Given the description of an element on the screen output the (x, y) to click on. 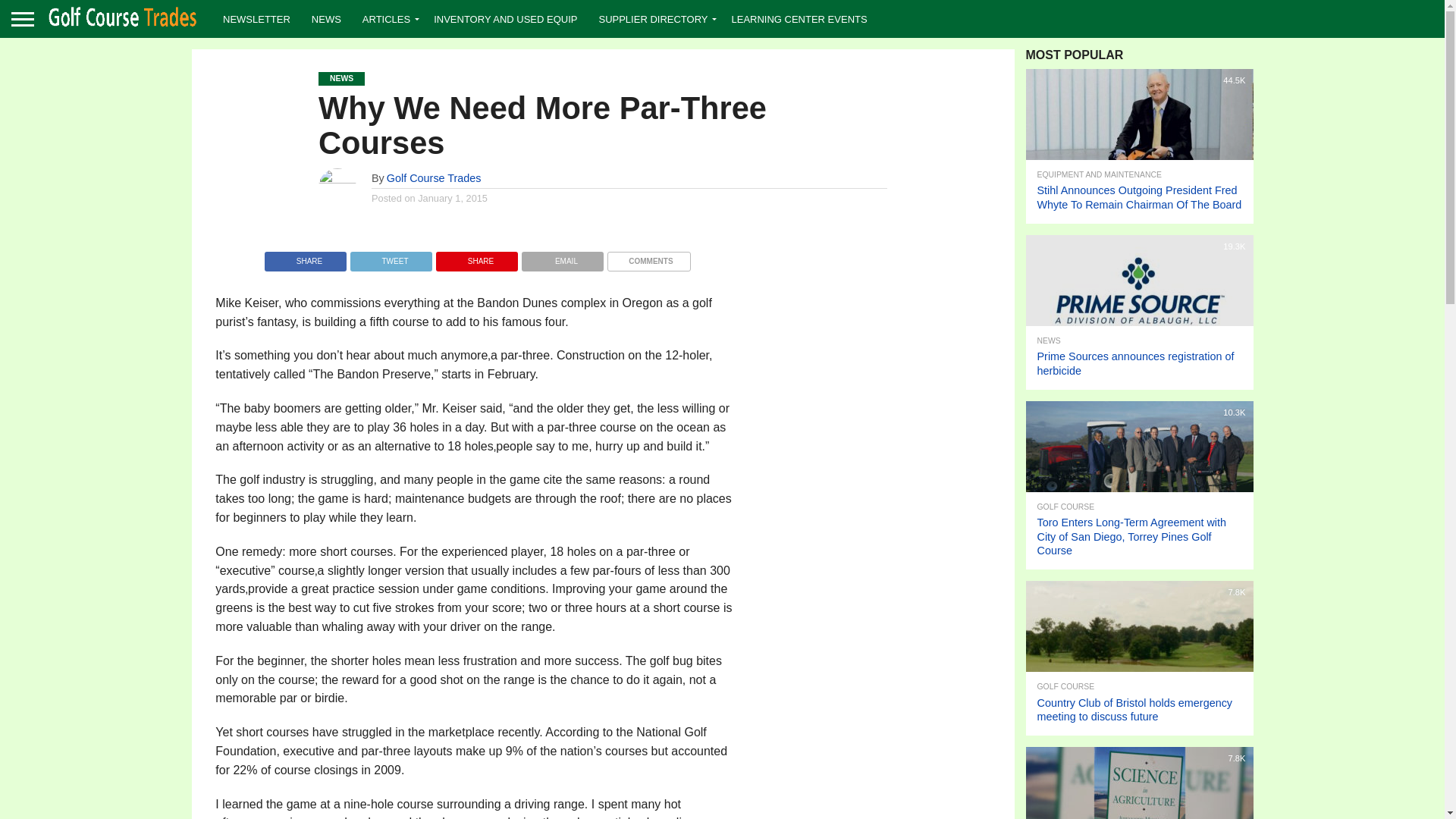
Pin This Post (476, 256)
Share on Facebook (305, 256)
NEWS (326, 18)
INVENTORY AND USED EQUIP (505, 18)
Posts by Golf Course Trades (434, 177)
Tweet This Post (390, 256)
ARTICLES (387, 18)
NEWSLETTER (256, 18)
SUPPLIER DIRECTORY (654, 18)
